Given the description of an element on the screen output the (x, y) to click on. 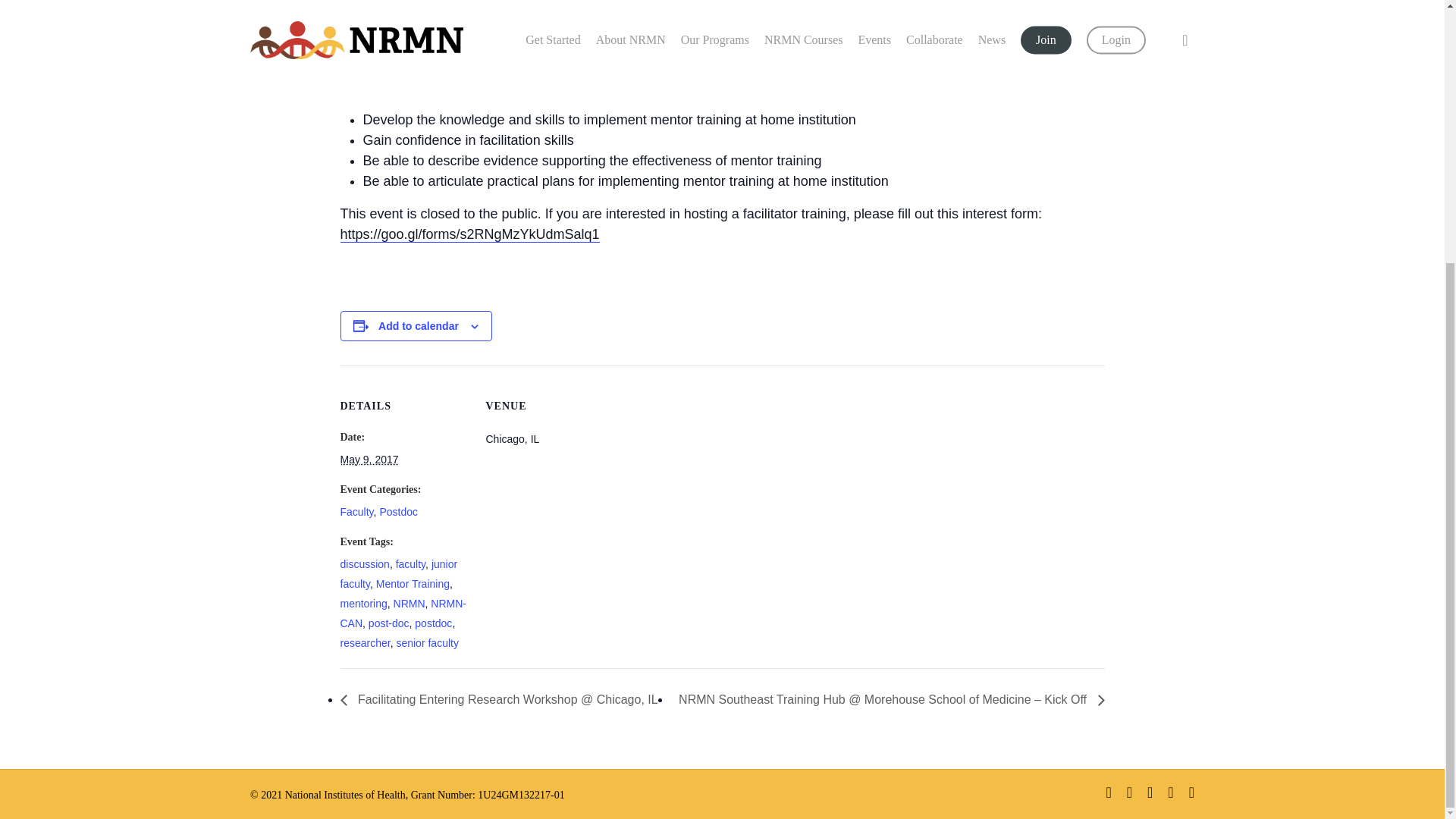
2017-05-09 (368, 459)
